Given the description of an element on the screen output the (x, y) to click on. 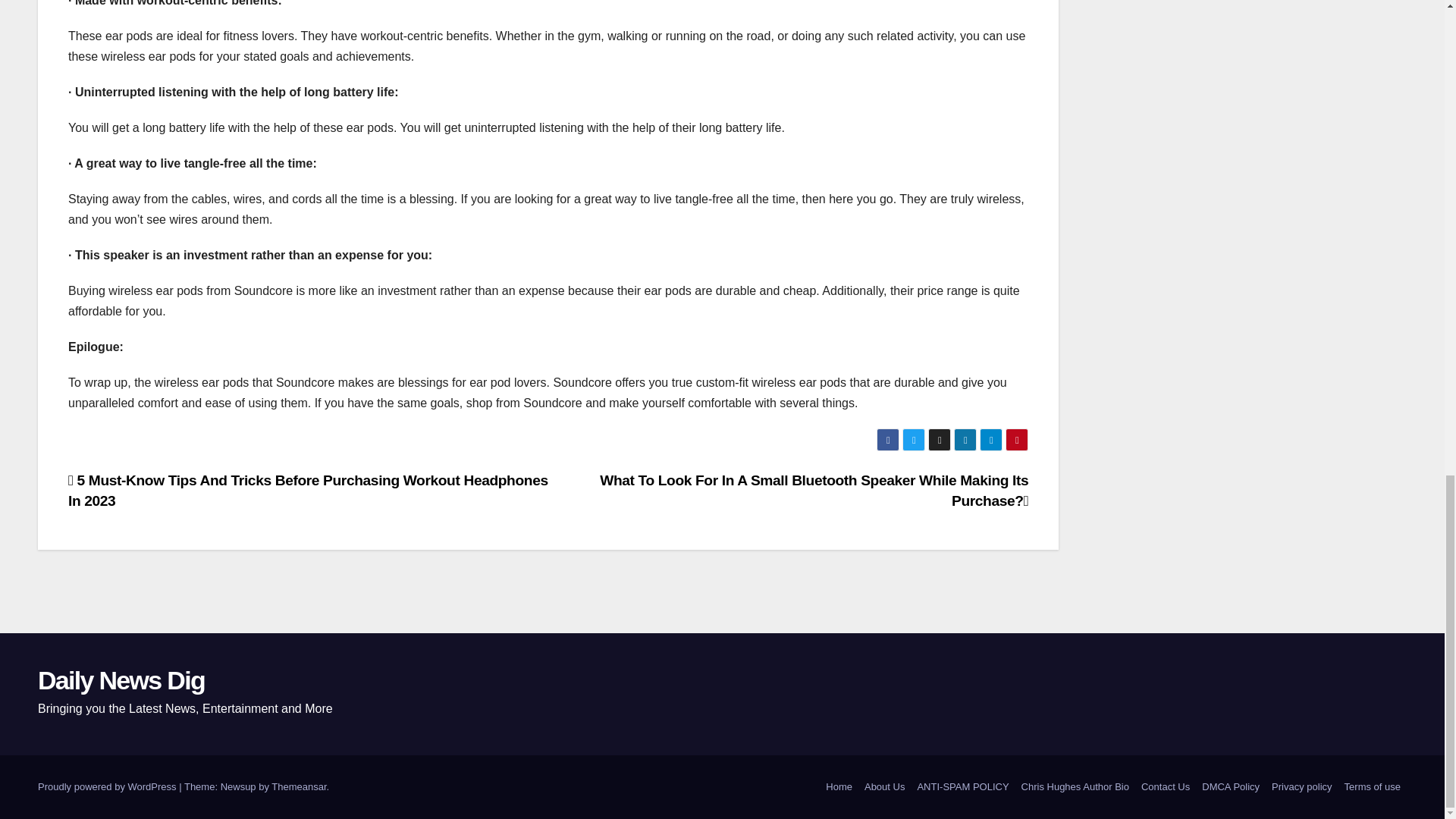
About Us (885, 786)
Home (839, 786)
Daily News Dig (121, 679)
Contact Us (1165, 786)
Chris Hughes Author Bio (1074, 786)
Proudly powered by WordPress (108, 786)
Home (839, 786)
ANTI-SPAM POLICY (962, 786)
